Given the description of an element on the screen output the (x, y) to click on. 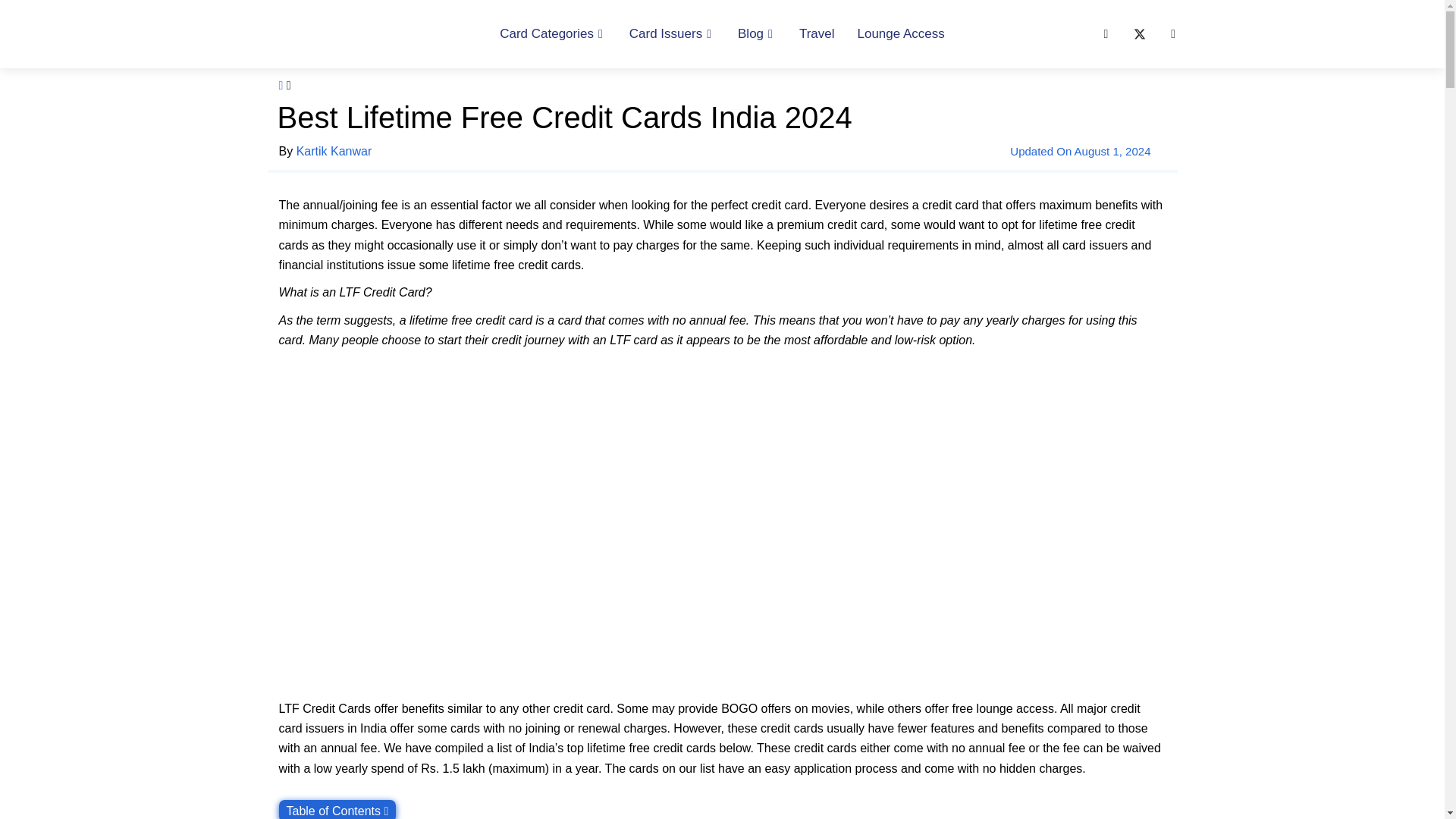
Posts by Kartik Kanwar (334, 151)
Blog (756, 33)
Card Issuers (671, 33)
Card Categories (552, 33)
Travel (816, 33)
